Given the description of an element on the screen output the (x, y) to click on. 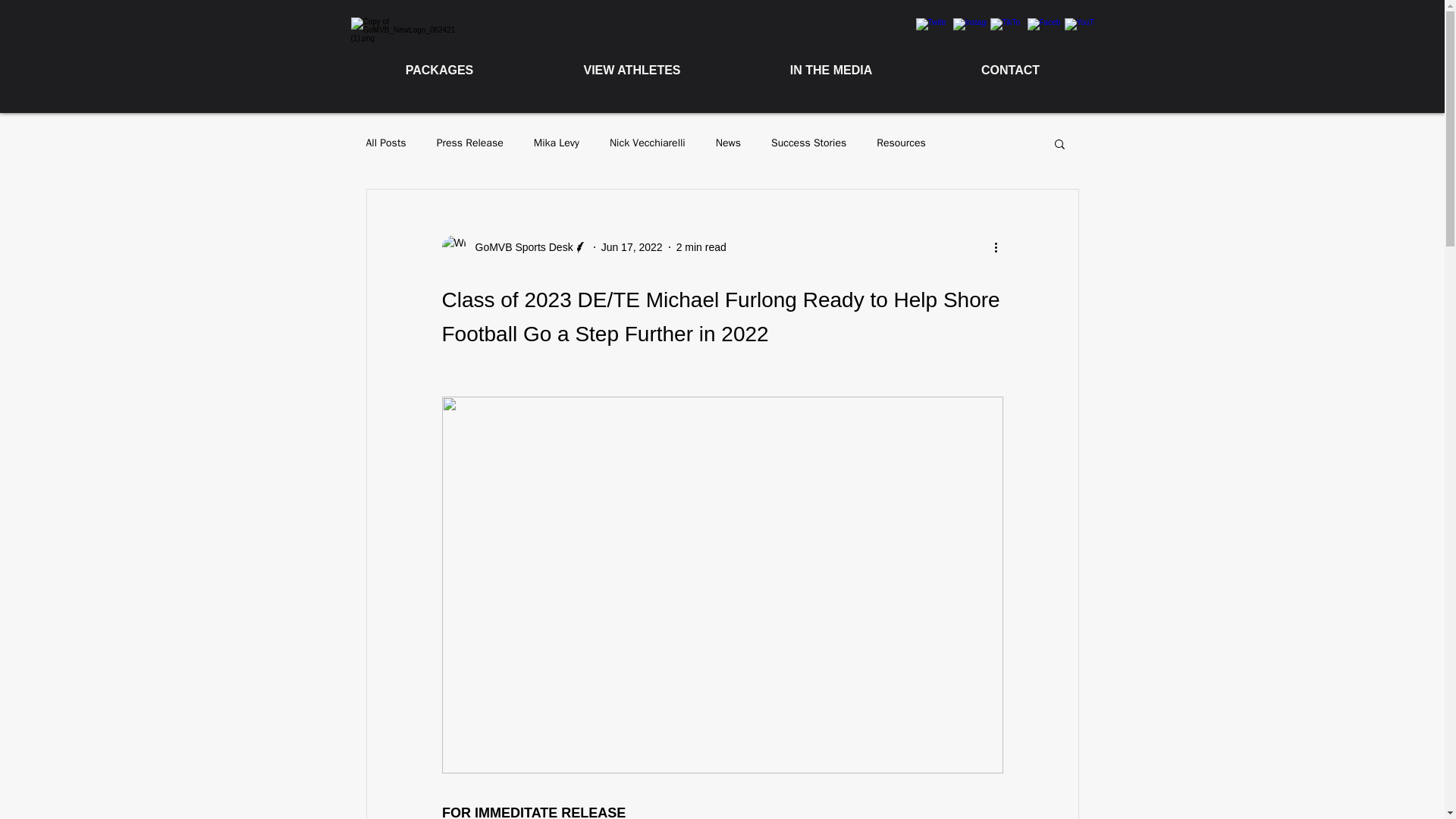
All Posts (385, 142)
2 min read (701, 246)
Mika Levy (556, 142)
PACKAGES (438, 70)
Resources (901, 142)
News (728, 142)
CONTACT (1010, 70)
IN THE MEDIA (830, 70)
VIEW ATHLETES (631, 70)
Success Stories (808, 142)
